Given the description of an element on the screen output the (x, y) to click on. 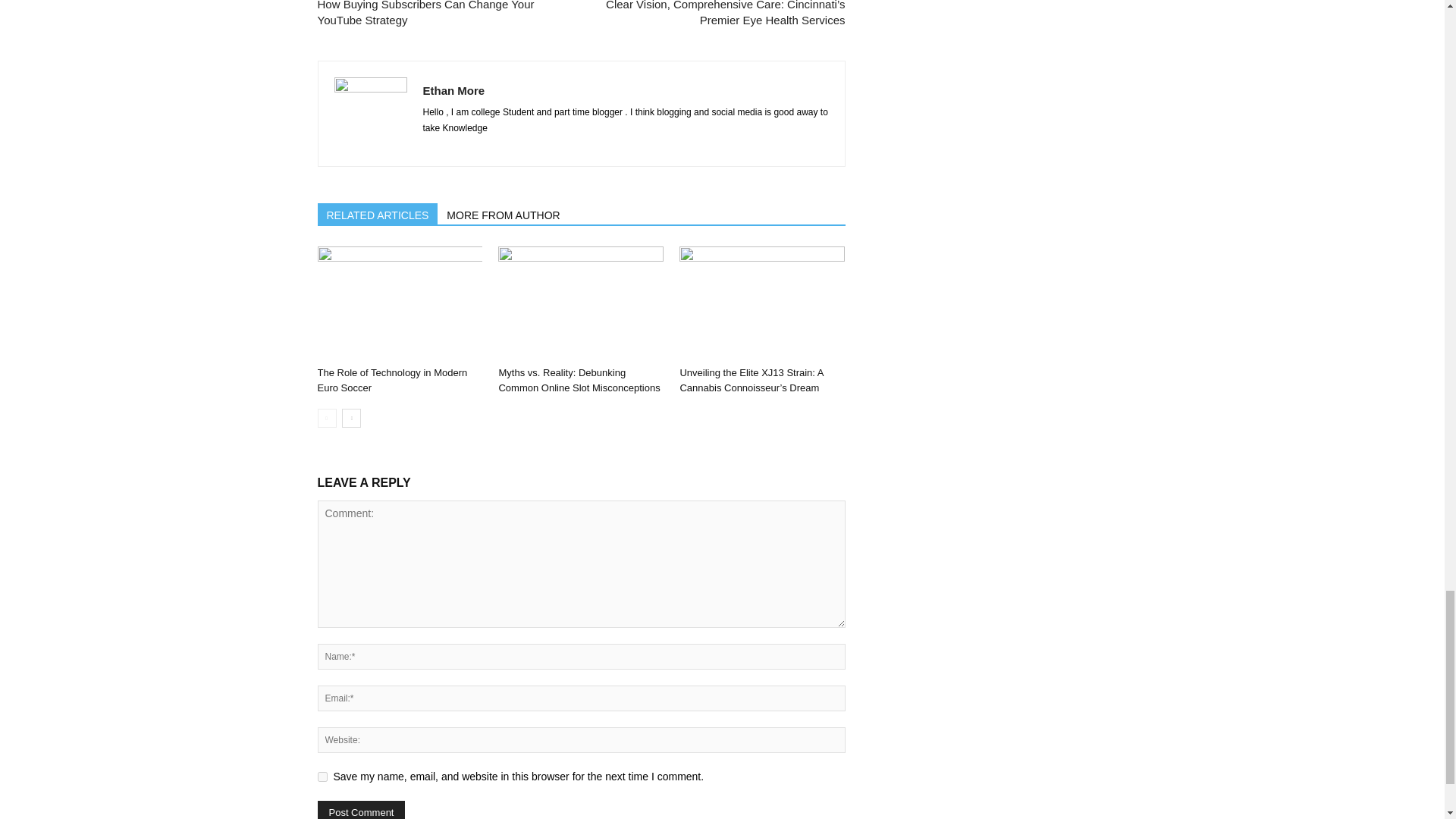
Post Comment (360, 809)
yes (321, 777)
The Role of Technology in Modern Euro Soccer (399, 303)
The Role of Technology in Modern Euro Soccer (392, 379)
